Given the description of an element on the screen output the (x, y) to click on. 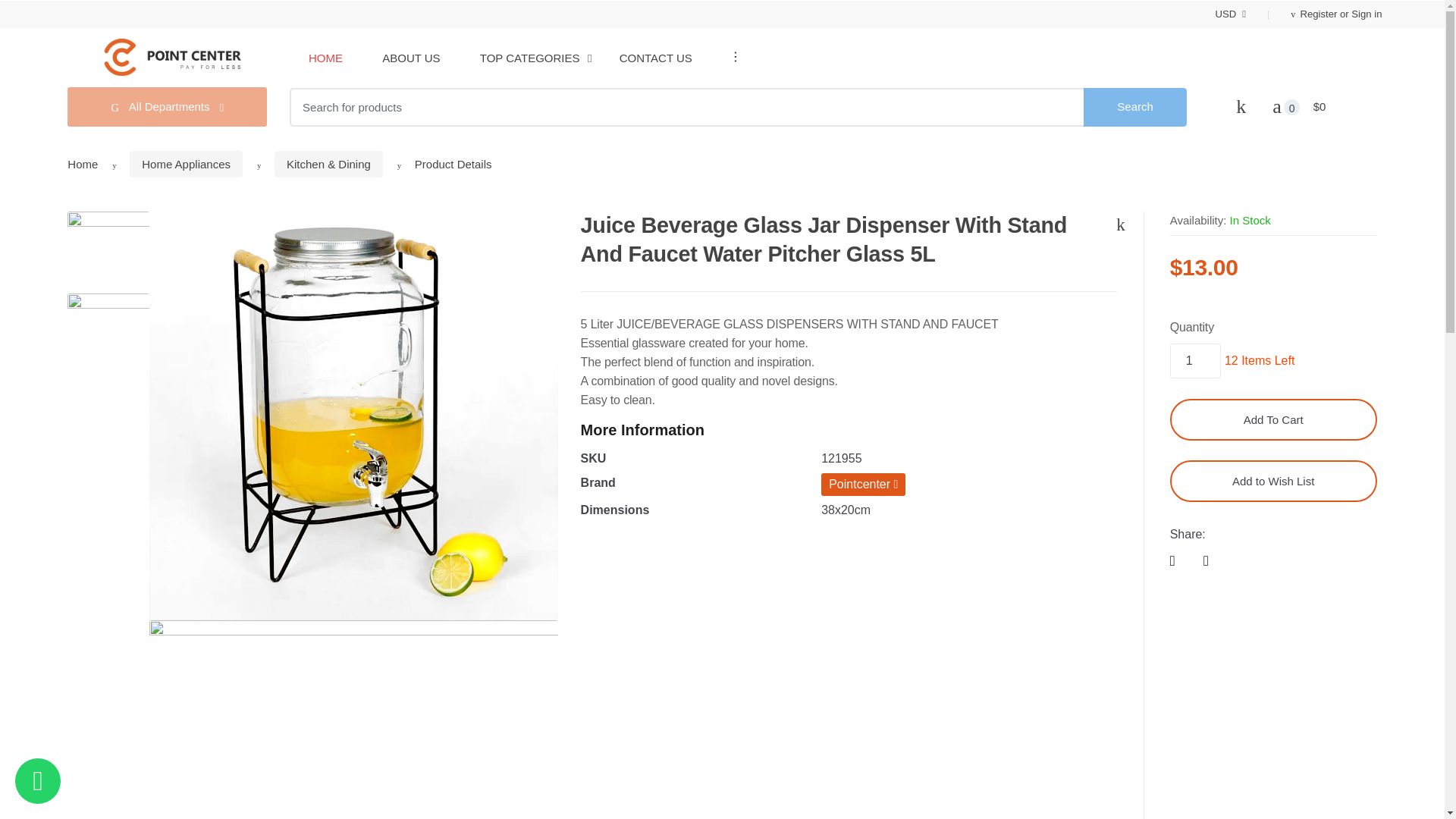
Home (325, 57)
View your shopping cart (1324, 107)
Top Categories (529, 57)
All Departments (166, 106)
1 (1195, 360)
About Us (410, 57)
Register or Sign in (1313, 13)
CONTACT US (656, 57)
USD (1230, 13)
TOP CATEGORIES (529, 57)
